Given the description of an element on the screen output the (x, y) to click on. 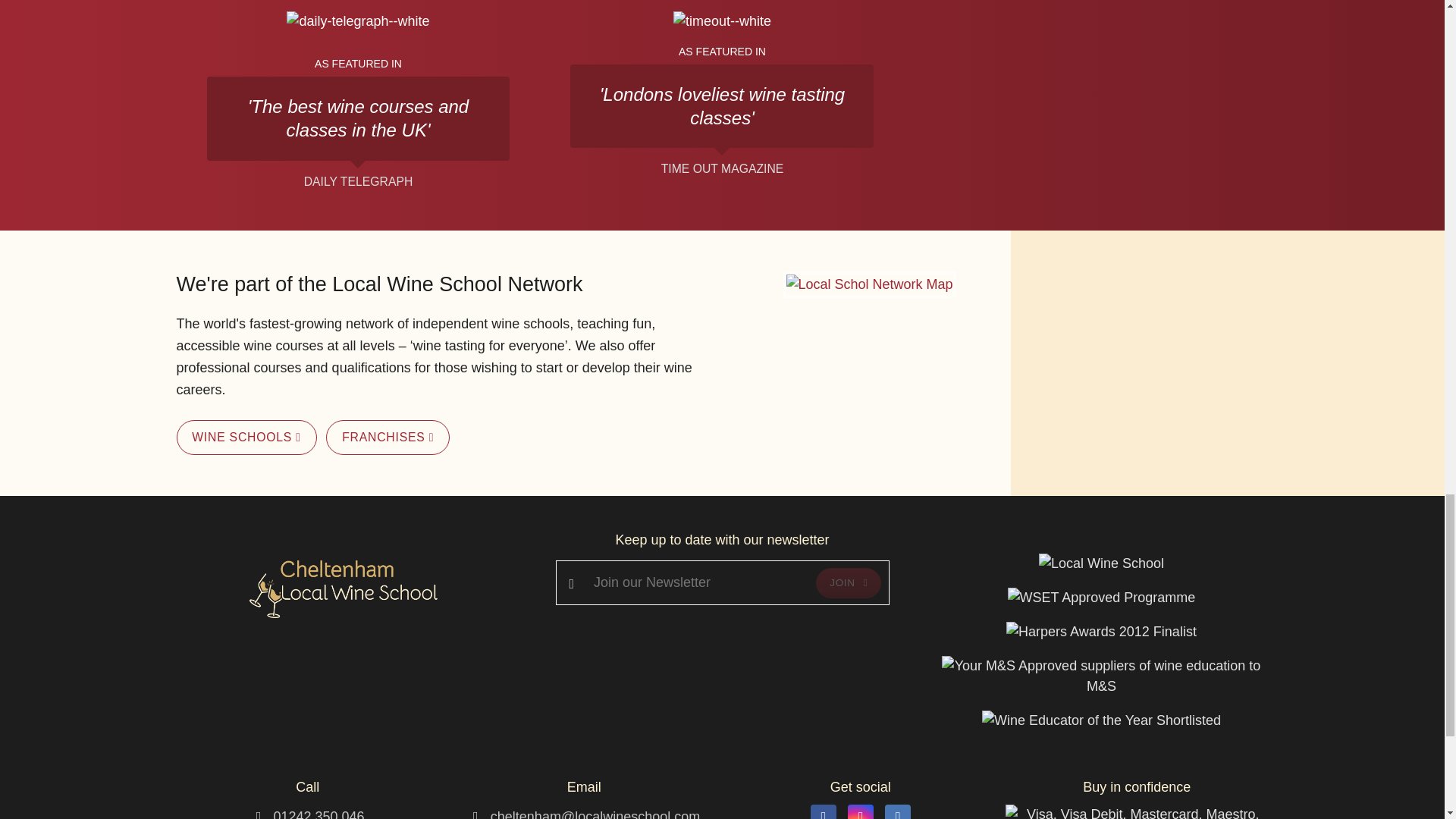
Visit our Instagram (860, 811)
Visit our LinkedIn (898, 811)
Send us an email (595, 814)
Call us (318, 814)
Visit our Facebook (822, 811)
